Given the description of an element on the screen output the (x, y) to click on. 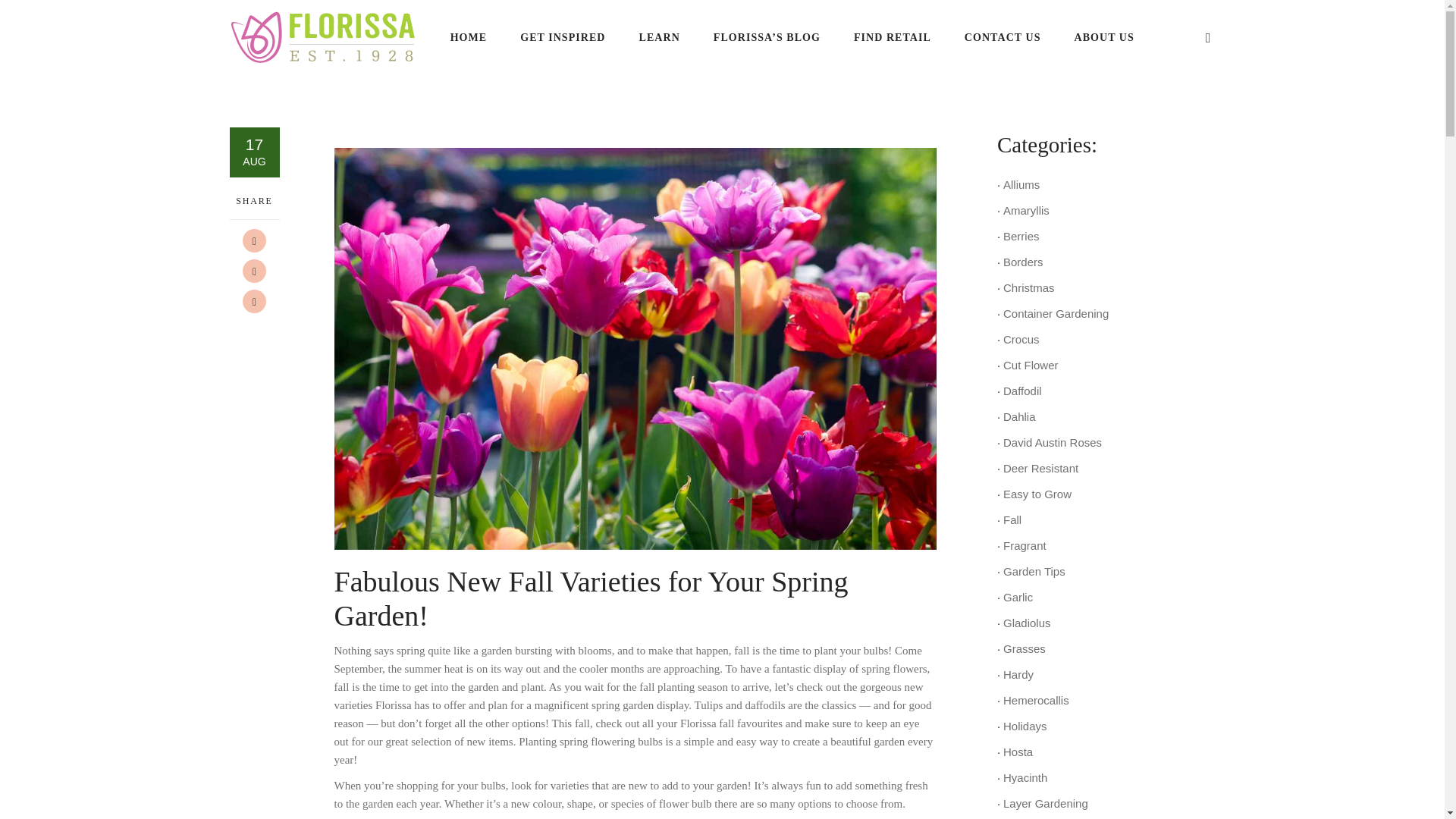
FIND RETAIL (892, 36)
GET INSPIRED (562, 36)
ABOUT US (1103, 36)
CONTACT US (1002, 36)
HOME (468, 36)
LEARN (660, 36)
